Given the description of an element on the screen output the (x, y) to click on. 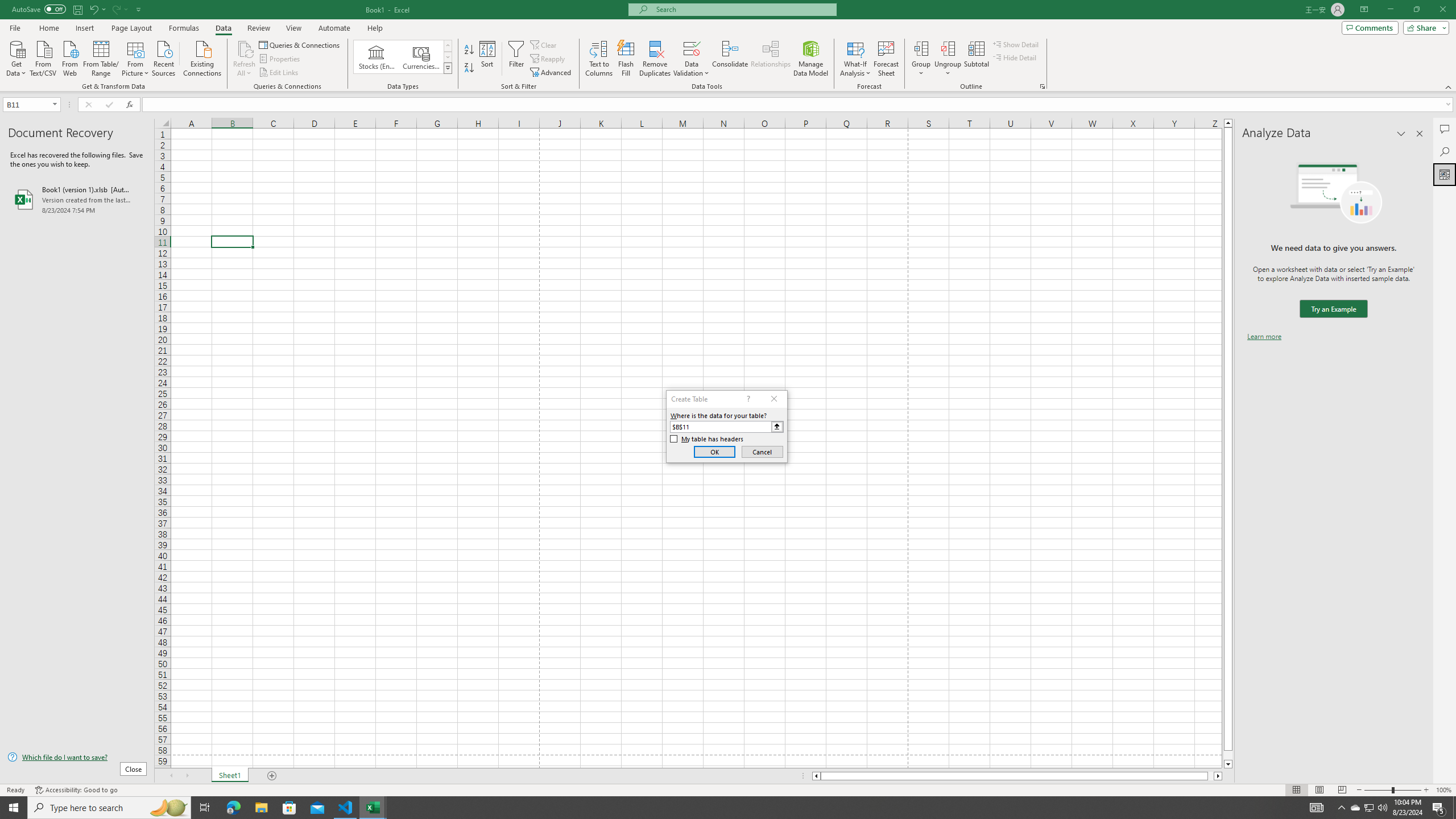
What-If Analysis (855, 58)
Existing Connections (202, 57)
